Given the description of an element on the screen output the (x, y) to click on. 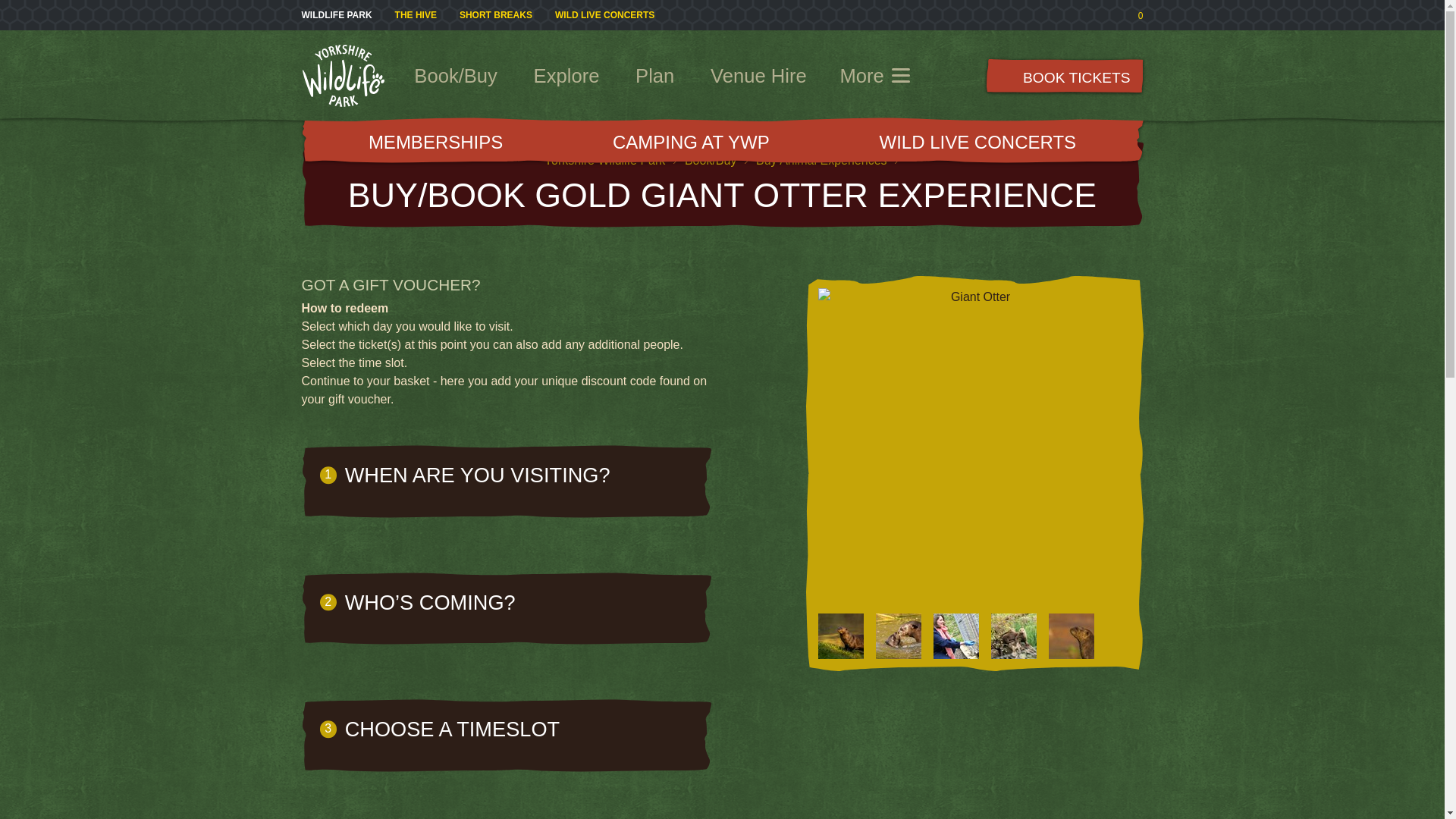
Plan (655, 75)
SHORT BREAKS (496, 14)
Explore (567, 75)
WILDLIFE PARK (336, 14)
Search (949, 75)
WILD LIVE CONCERTS (603, 14)
THE HIVE (415, 14)
BOOK TICKETS (1064, 75)
